Given the description of an element on the screen output the (x, y) to click on. 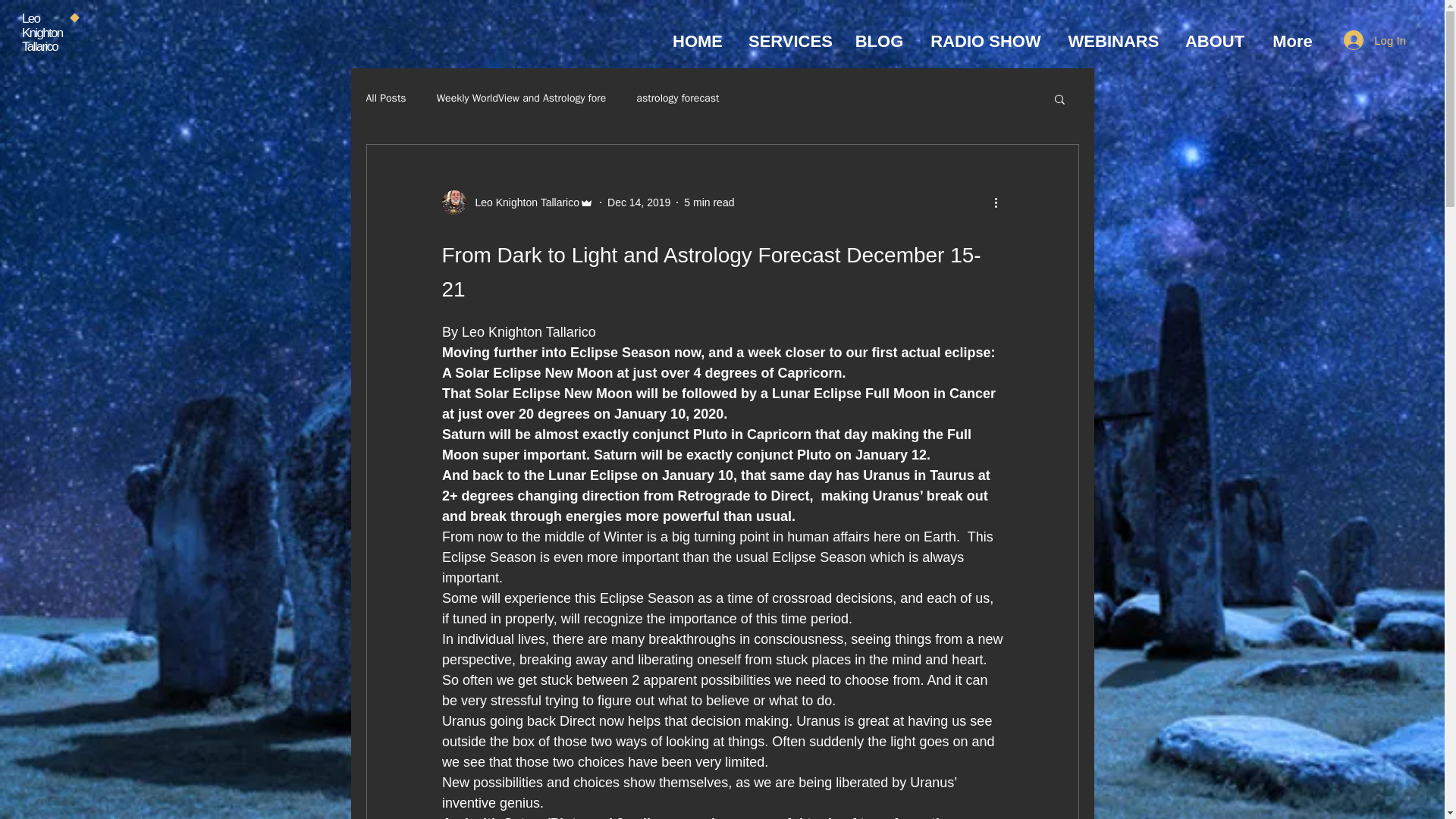
Leo Knighton Tallarico (517, 202)
Dec 14, 2019 (638, 201)
BLOG (879, 41)
Weekly WorldView and Astrology fore (521, 98)
ABOUT (1214, 41)
WEBINARS (1113, 41)
astrology forecast (677, 98)
All Posts (385, 98)
HOME (697, 41)
Log In (1374, 39)
